Given the description of an element on the screen output the (x, y) to click on. 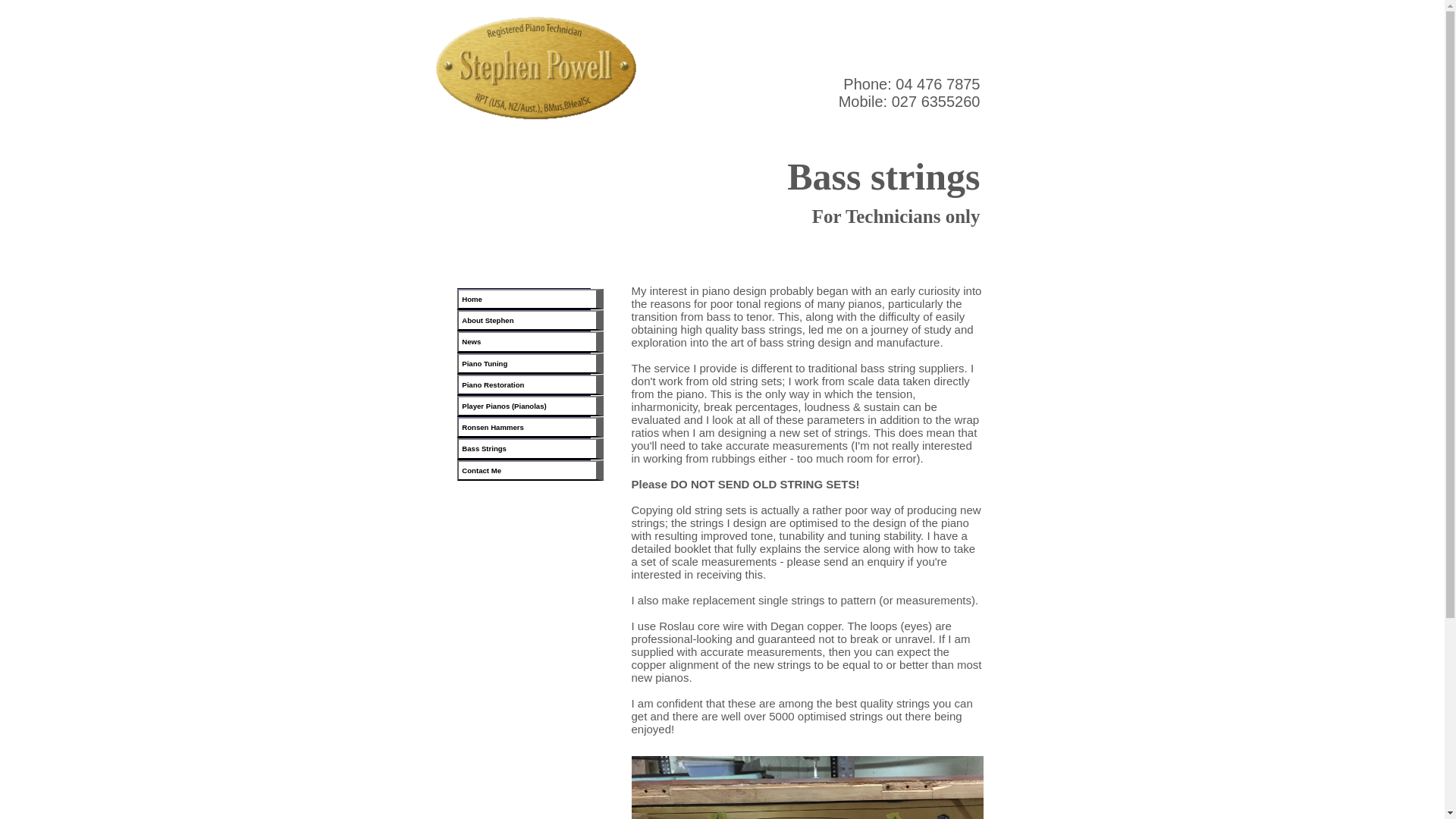
Mobile: 027 6355260 (908, 101)
Contact Me (530, 469)
About Stephen (530, 320)
Home (530, 299)
Ronsen Hammers (530, 426)
Piano Tuning (530, 362)
Phone: 04 476 7875 (911, 84)
Bass Strings (530, 448)
Piano Restoration (530, 384)
News (530, 341)
